Given the description of an element on the screen output the (x, y) to click on. 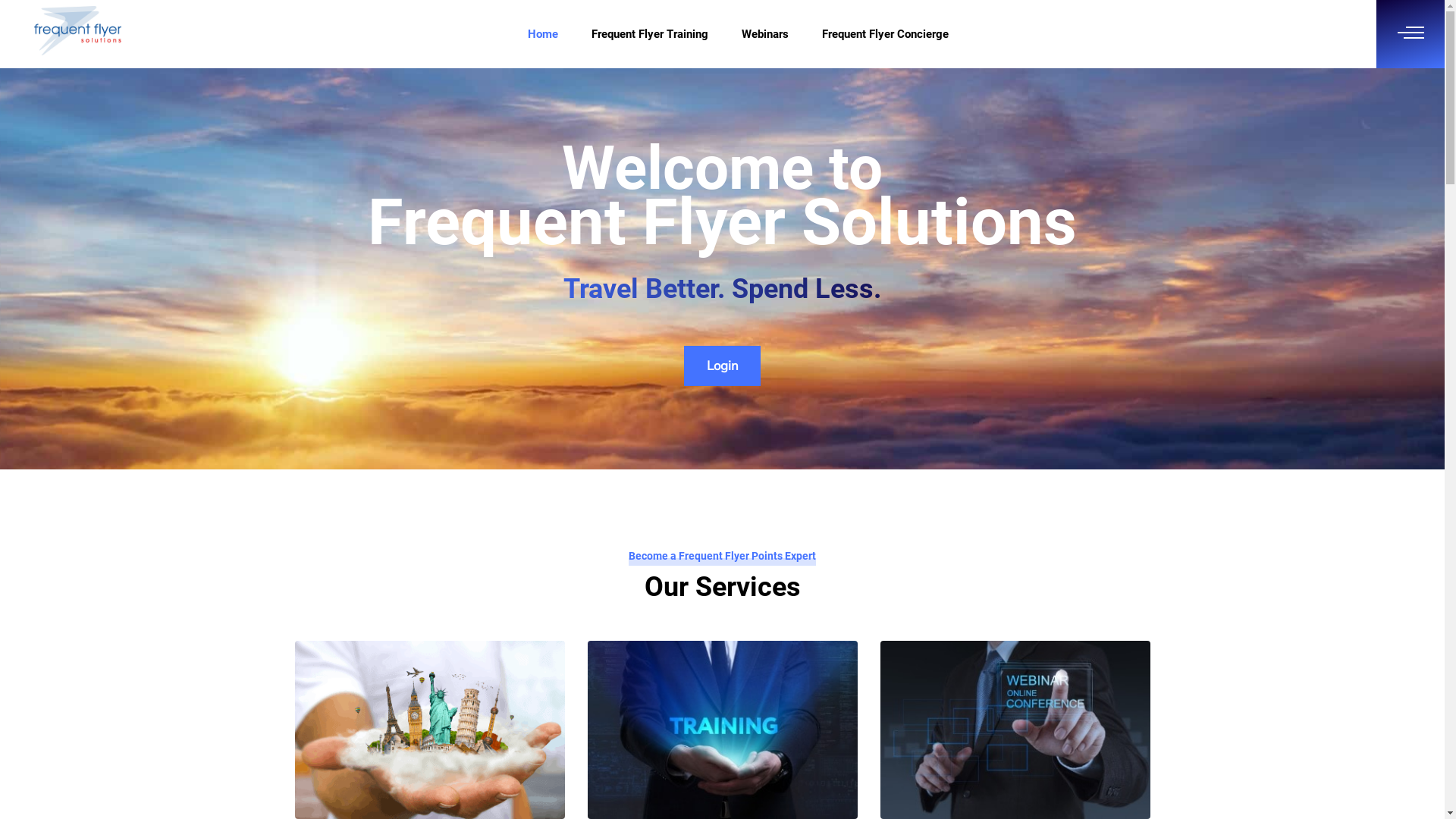
Privacy Policy Element type: text (1001, 784)
Frequent Flyer Training Element type: text (649, 34)
Home Element type: text (542, 34)
Refund Policy Element type: text (1076, 784)
Frequent Flyer Concierge Element type: text (885, 34)
Terms of Service Element type: text (1156, 784)
Login Element type: text (721, 365)
Webinars Element type: text (764, 34)
Search Element type: text (17, 15)
About Us Element type: text (934, 784)
Contact Us Element type: text (1232, 784)
